Given the description of an element on the screen output the (x, y) to click on. 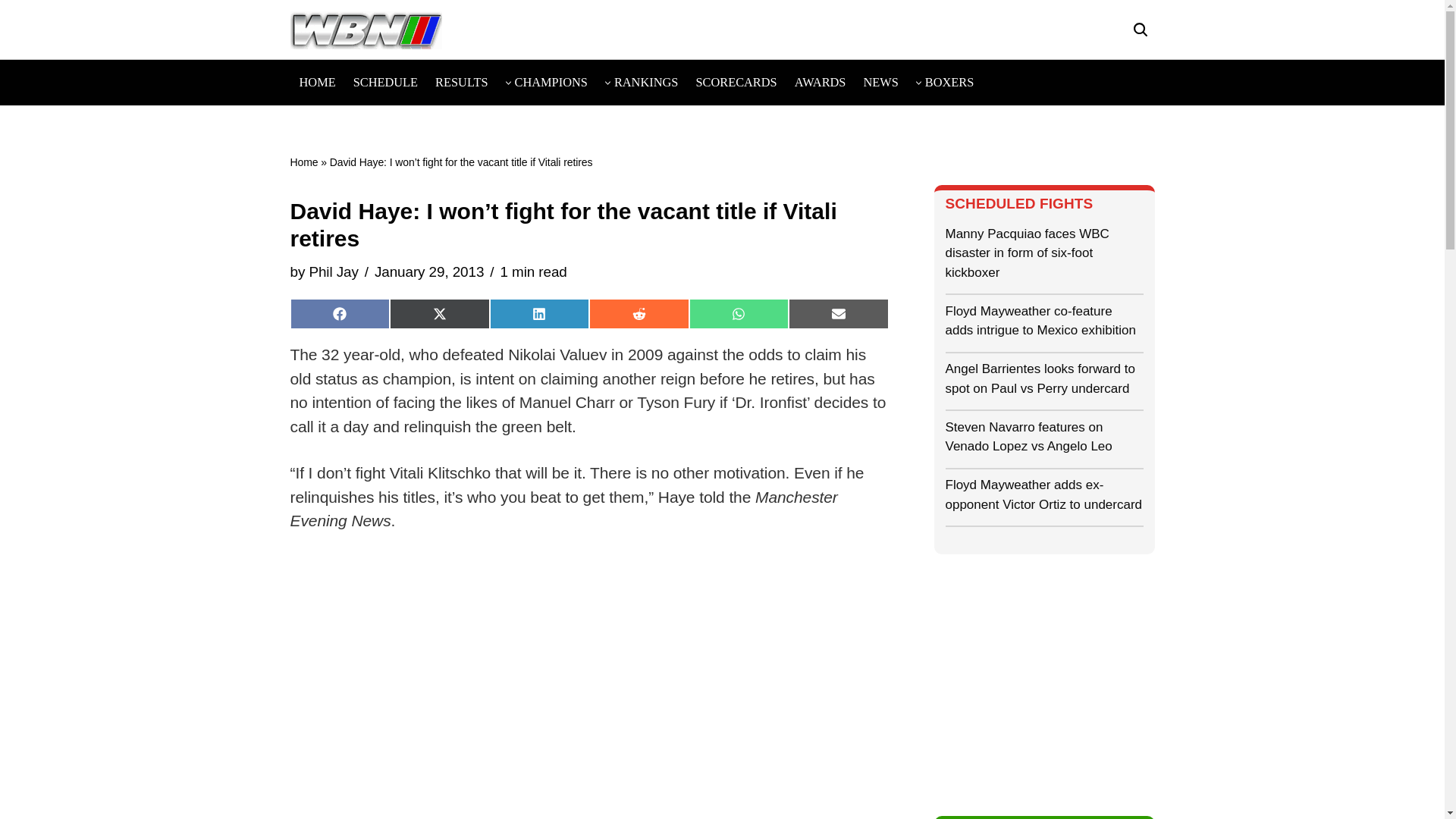
SCORECARDS (735, 81)
RANKINGS (646, 81)
HOME (316, 81)
Skip to content (11, 31)
NEWS (880, 81)
RESULTS (461, 81)
AWARDS (819, 81)
Posts by Phil Jay (333, 271)
SCHEDULE (385, 81)
BOXERS (949, 81)
CHAMPIONS (551, 81)
